Given the description of an element on the screen output the (x, y) to click on. 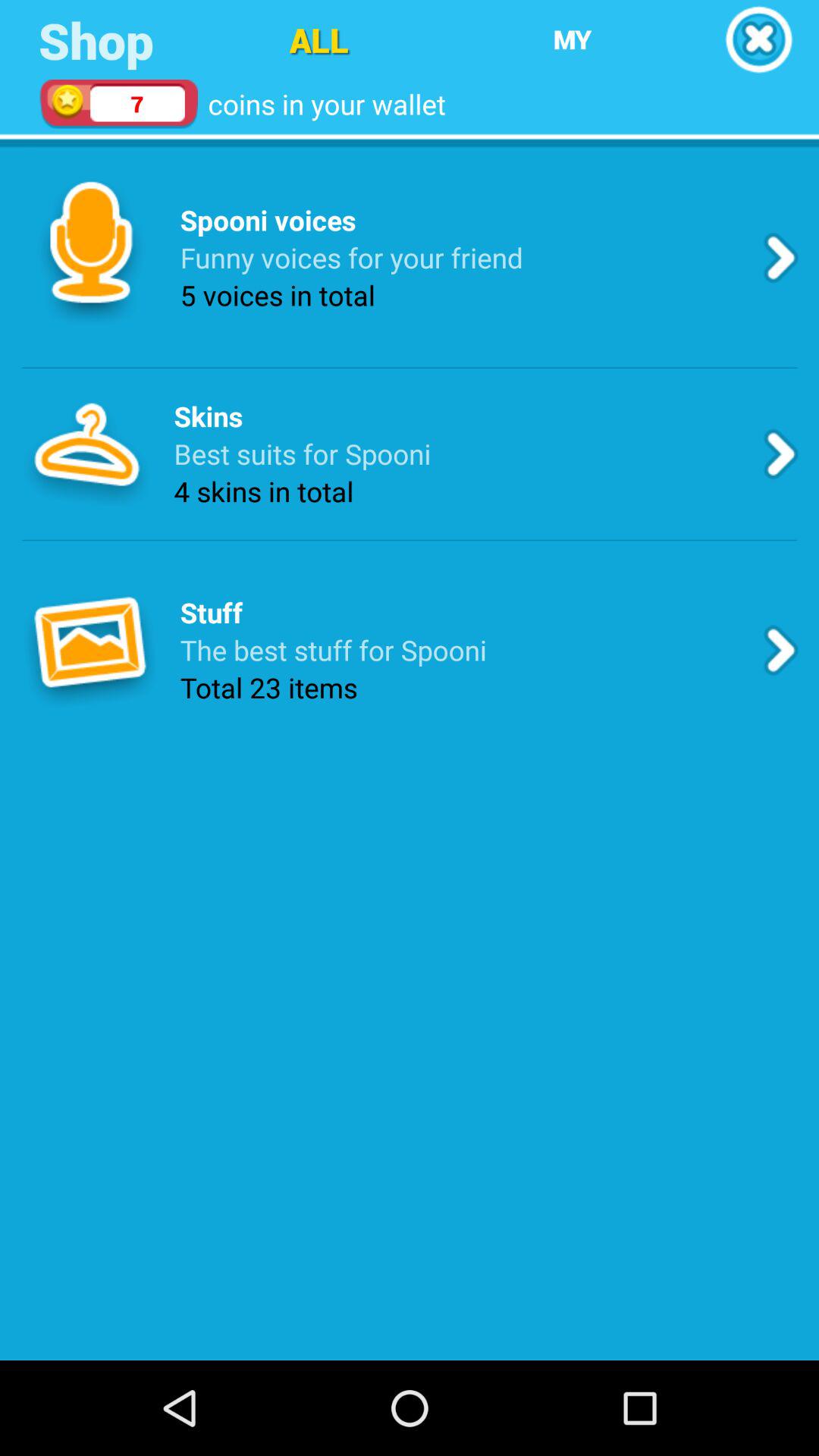
close tab (758, 39)
